Given the description of an element on the screen output the (x, y) to click on. 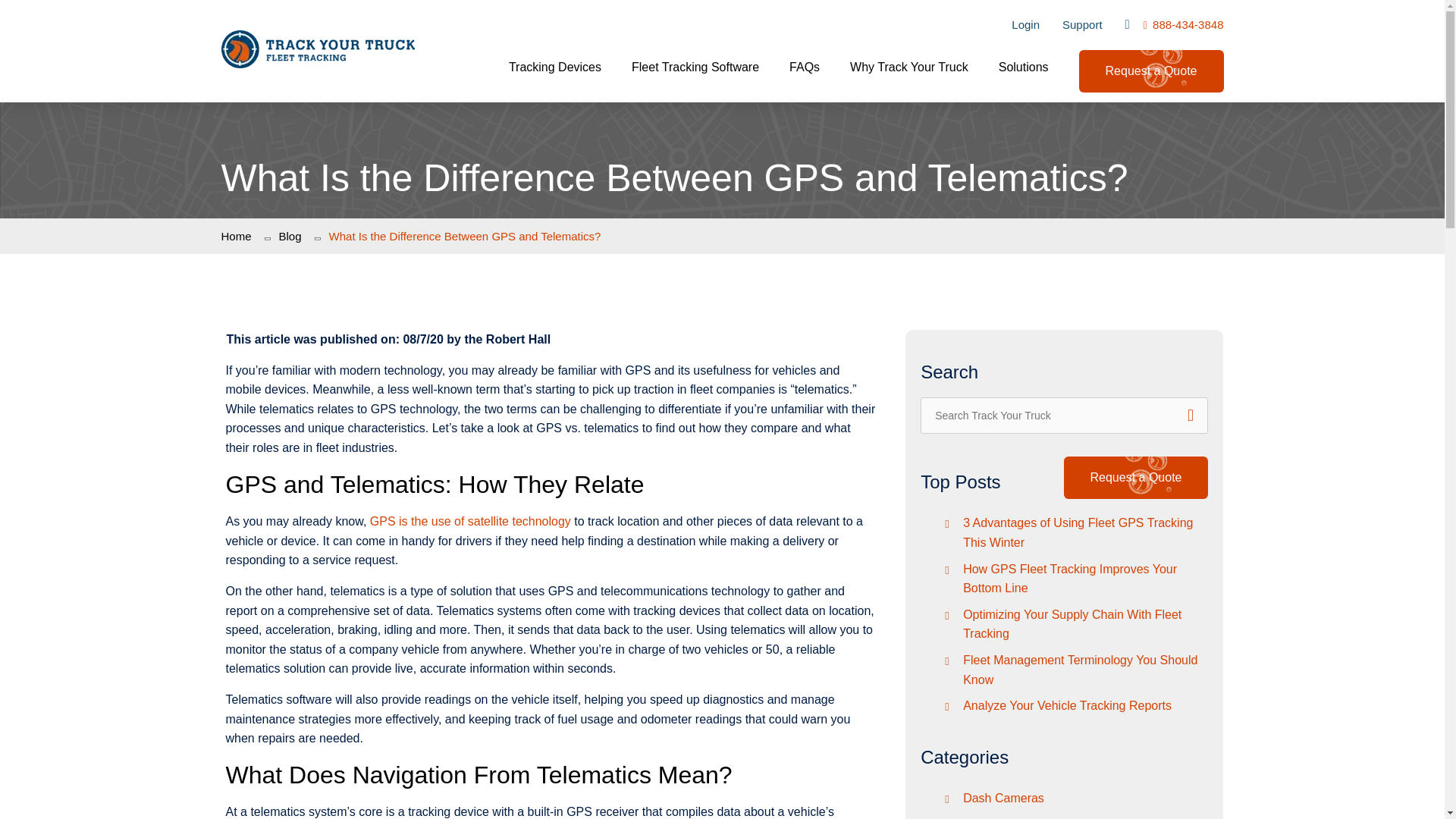
888-434-3848 (1183, 24)
FAQs (804, 76)
Login (1025, 24)
Why Track Your Truck (909, 76)
Support (1082, 24)
Request a Quote (1151, 70)
Fleet Tracking Software (694, 76)
Tracking Devices (554, 76)
